Given the description of an element on the screen output the (x, y) to click on. 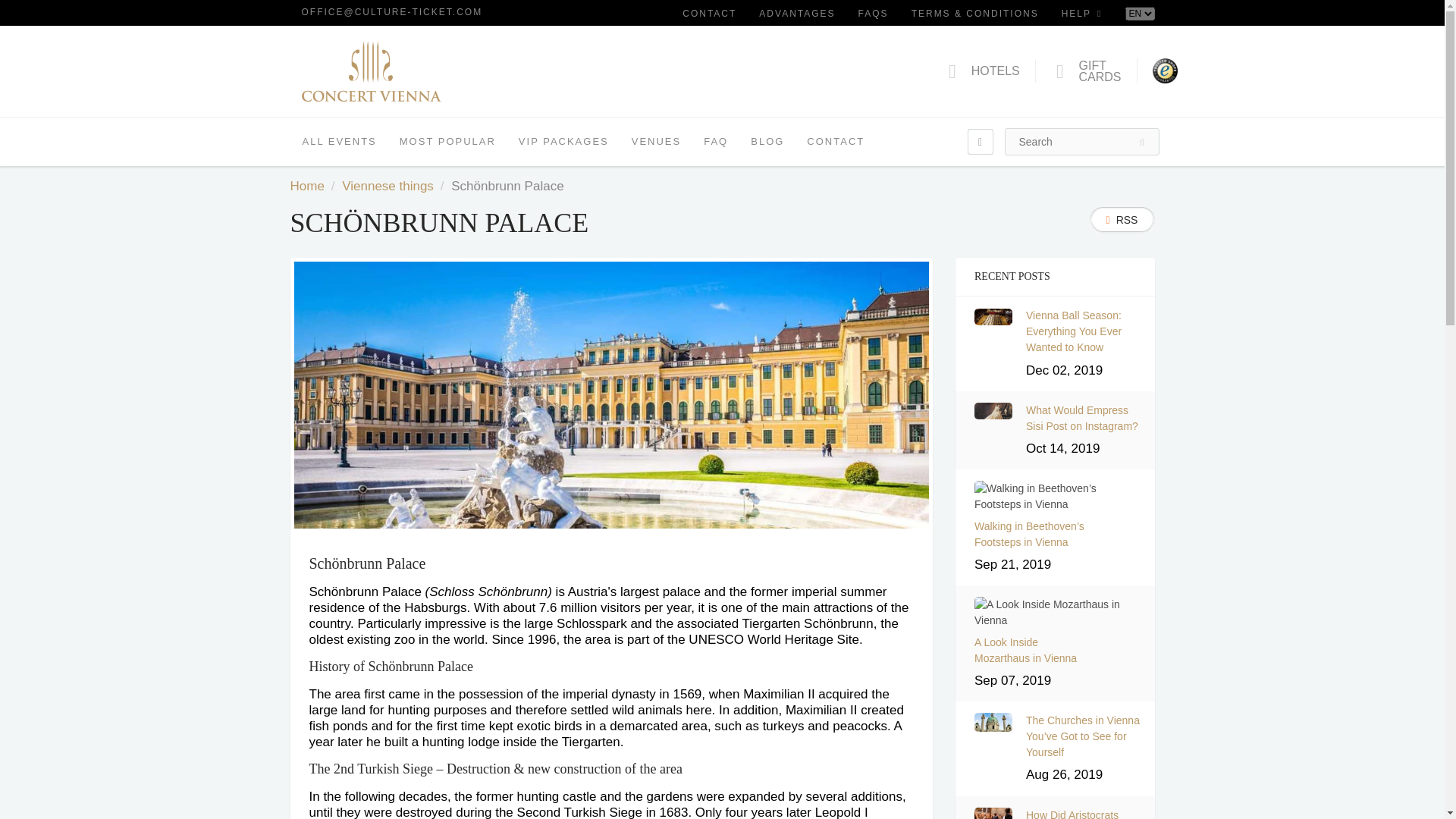
BLOG (766, 141)
FAQS (873, 13)
HELP (1081, 13)
RSS (1121, 220)
MOST POPULAR (447, 141)
HOTELS (987, 70)
VIP PACKAGES (1081, 70)
CONTACT (563, 141)
Viennese things (709, 13)
CONTACT (387, 186)
FAQ (835, 141)
Home (716, 141)
Home (306, 186)
VENUES (306, 186)
